Given the description of an element on the screen output the (x, y) to click on. 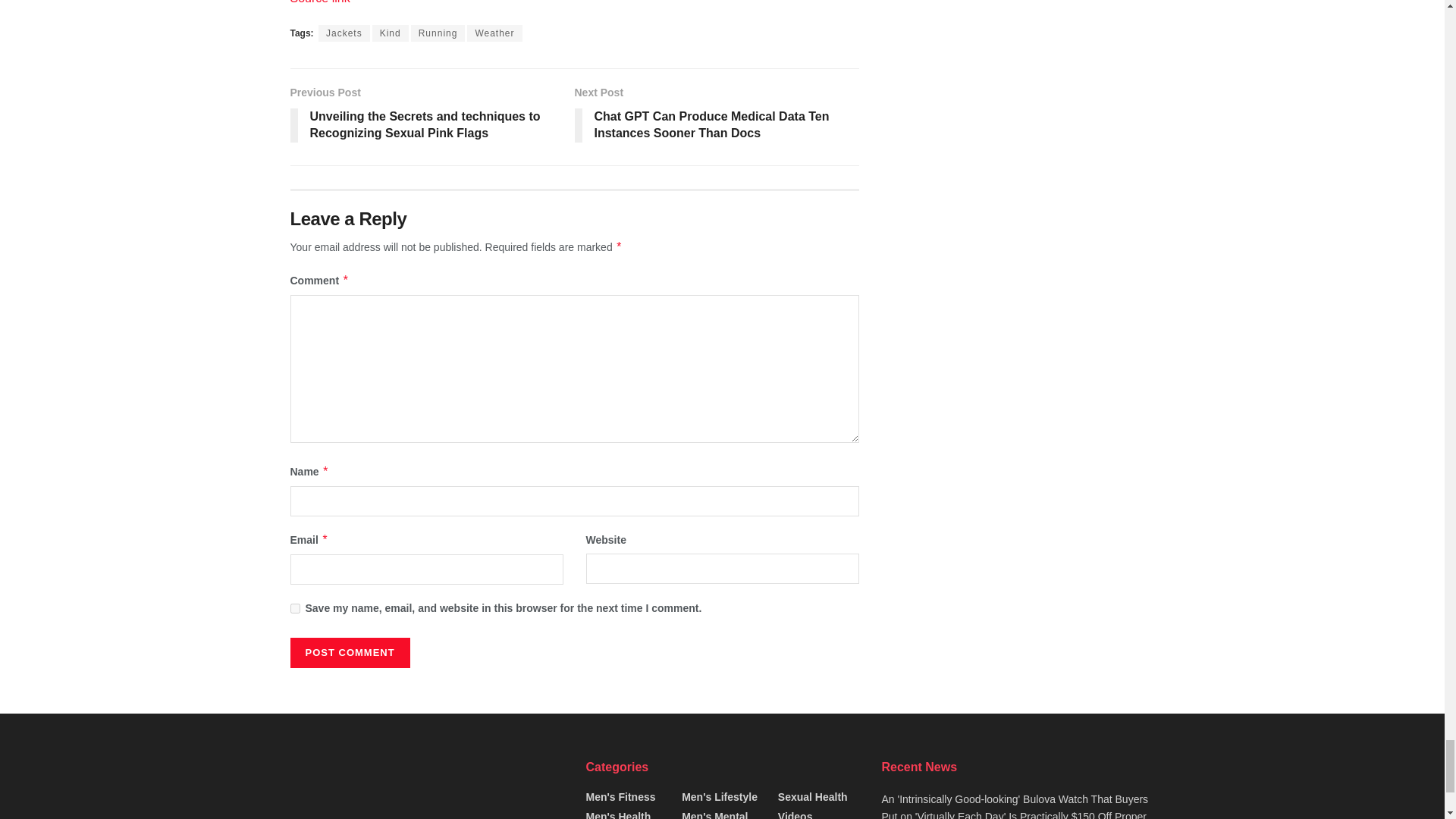
Running (437, 33)
Weather (494, 33)
Jackets (343, 33)
Source link (319, 2)
Post Comment (349, 653)
Kind (390, 33)
yes (294, 608)
